Given the description of an element on the screen output the (x, y) to click on. 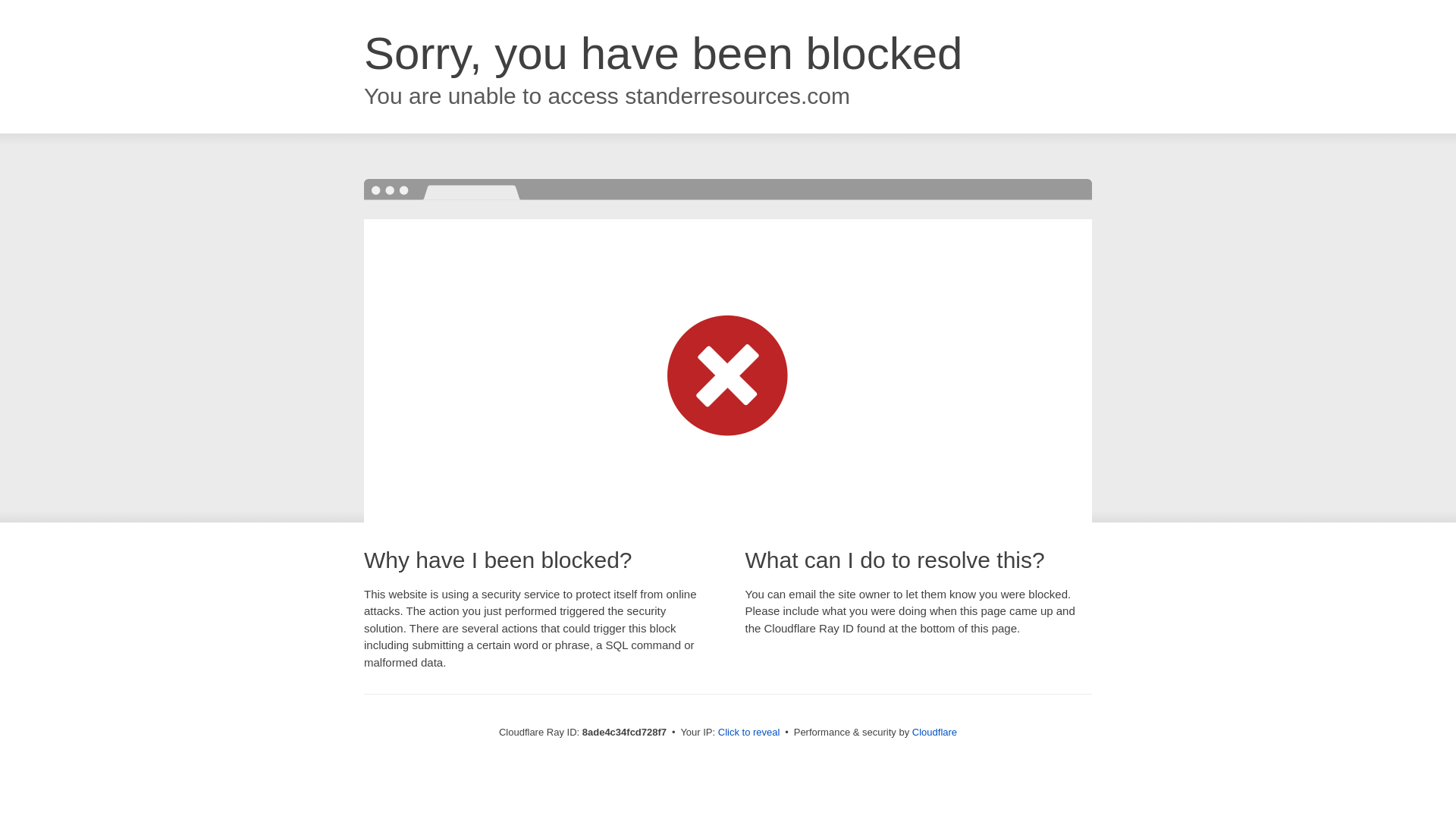
Cloudflare (934, 731)
Click to reveal (748, 732)
